Given the description of an element on the screen output the (x, y) to click on. 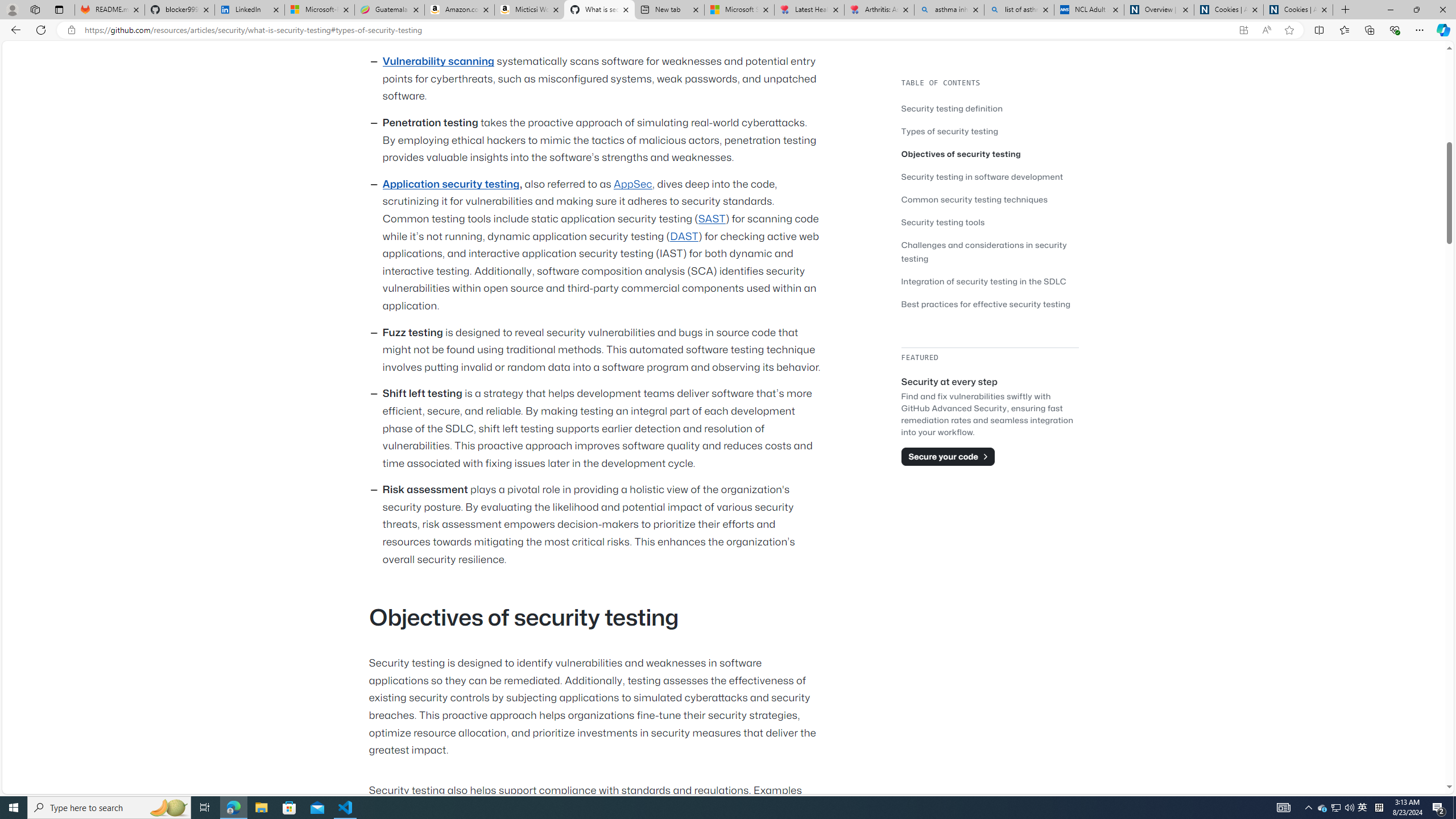
SAST (711, 218)
Security testing definition (952, 108)
AppSec (632, 184)
Secure your code (947, 456)
App available. Install GitHub (1243, 29)
